Given the description of an element on the screen output the (x, y) to click on. 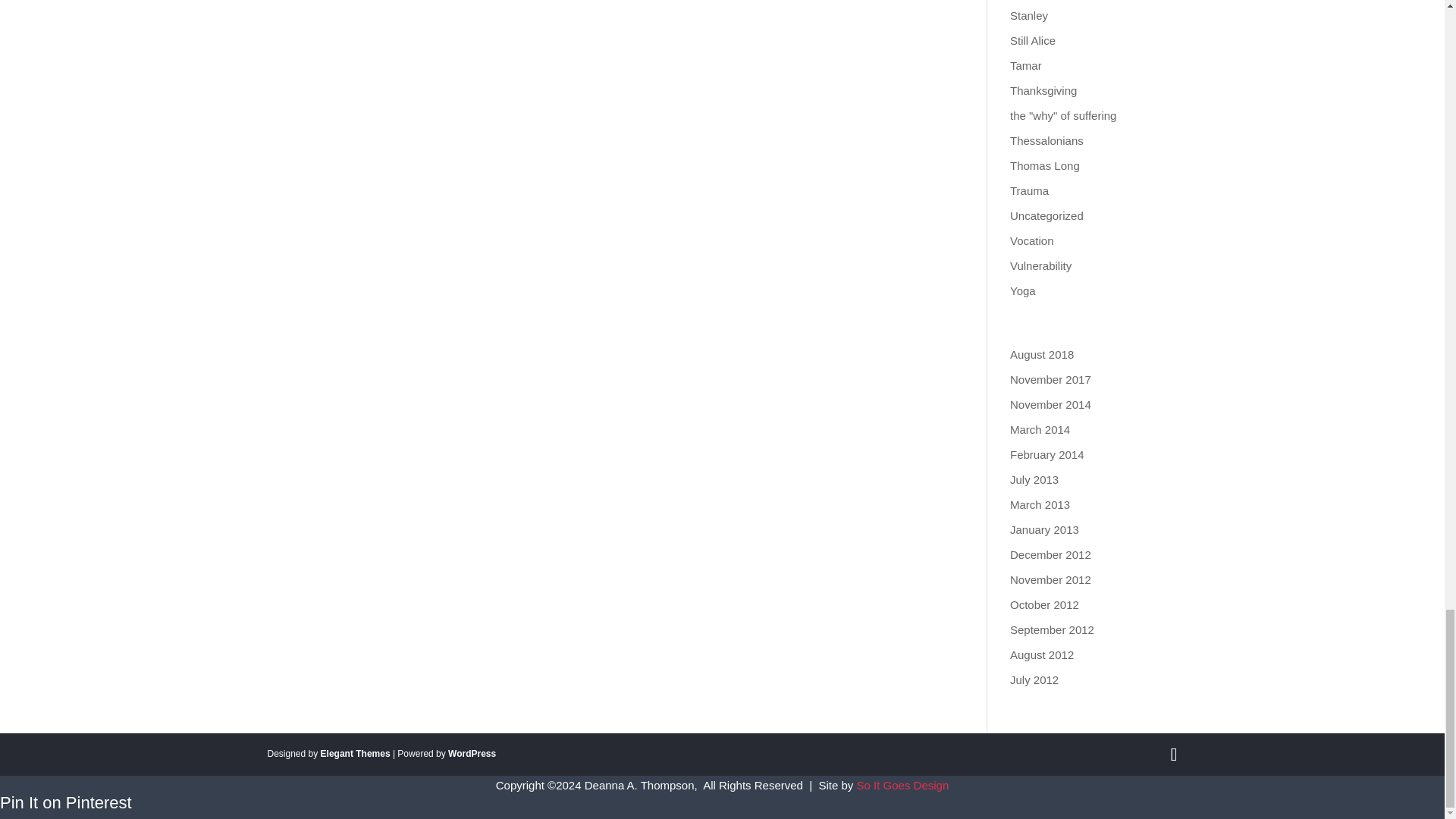
Premium WordPress Themes (355, 753)
